Given the description of an element on the screen output the (x, y) to click on. 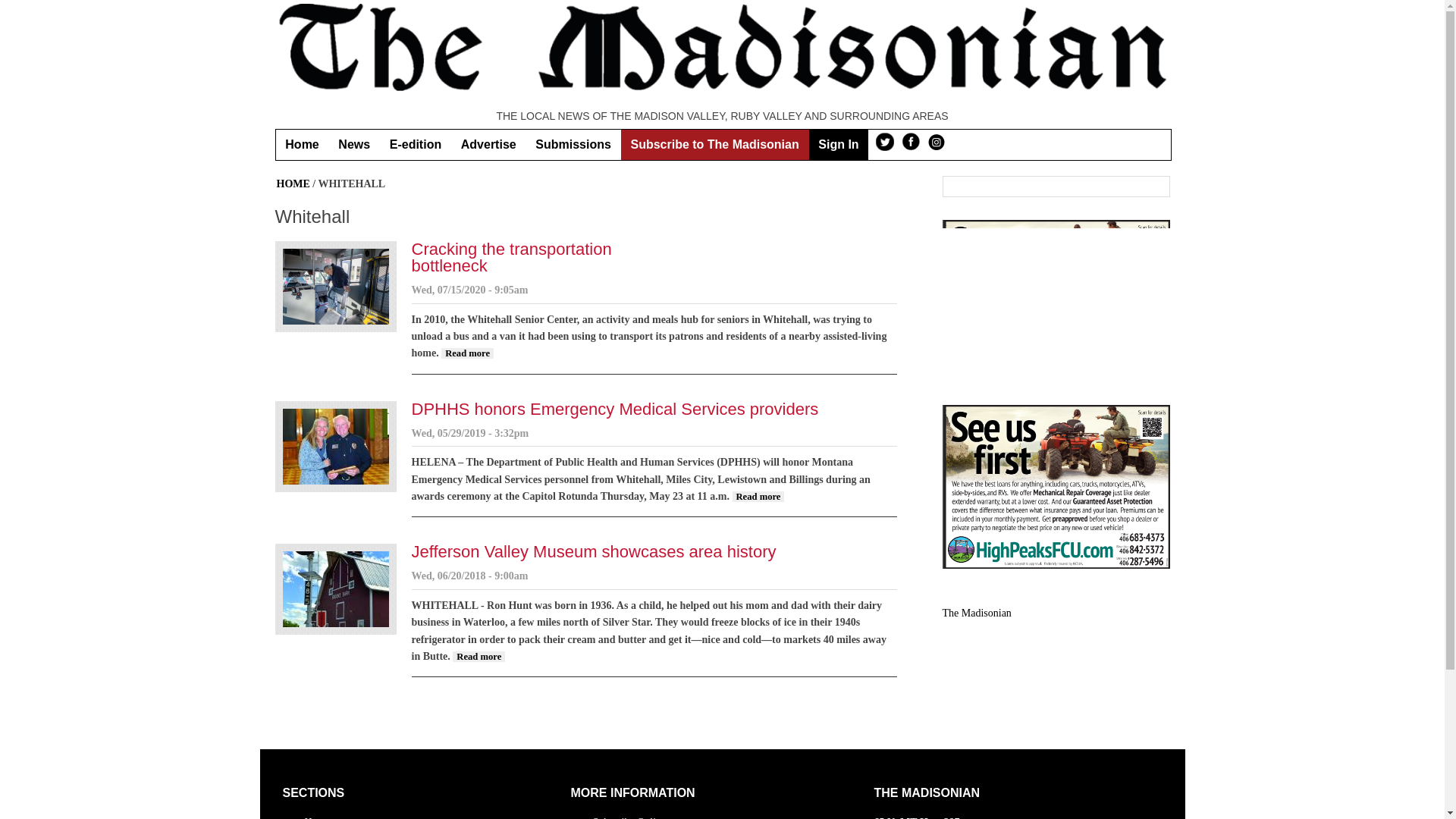
DPHHS honors Emergency  Medical Services providers (758, 496)
Home (317, 817)
Home (302, 144)
DPHHS honors Emergency Medical Services providers (614, 408)
Search (1155, 187)
The Madisonian (976, 613)
Cracking the transportation bottleneck (467, 353)
Sign In (837, 144)
Advertise (488, 144)
E-edition (415, 144)
News (354, 144)
Enter the terms you wish to search for. (1043, 186)
Subscribe to The Madisonian (715, 144)
Search (1155, 187)
